Given the description of an element on the screen output the (x, y) to click on. 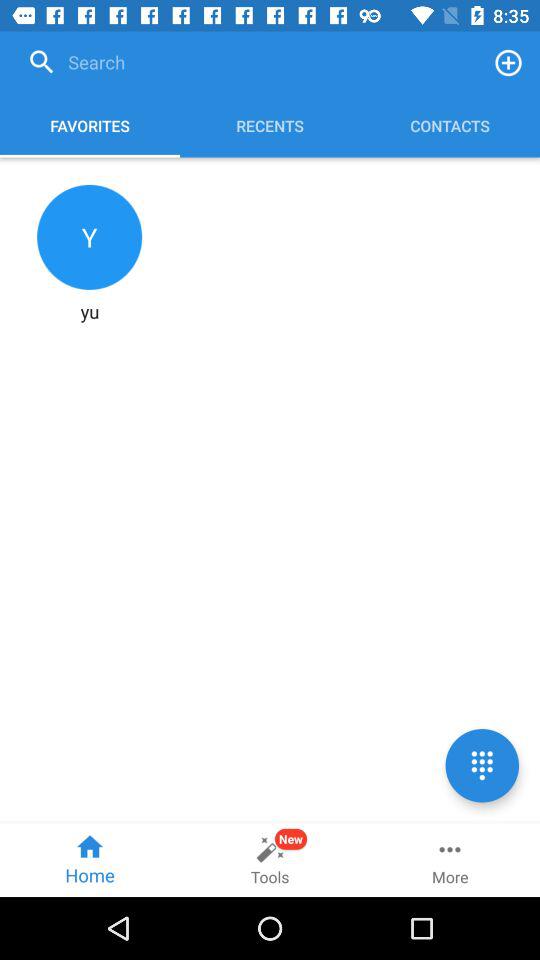
add a new contact (508, 62)
